Given the description of an element on the screen output the (x, y) to click on. 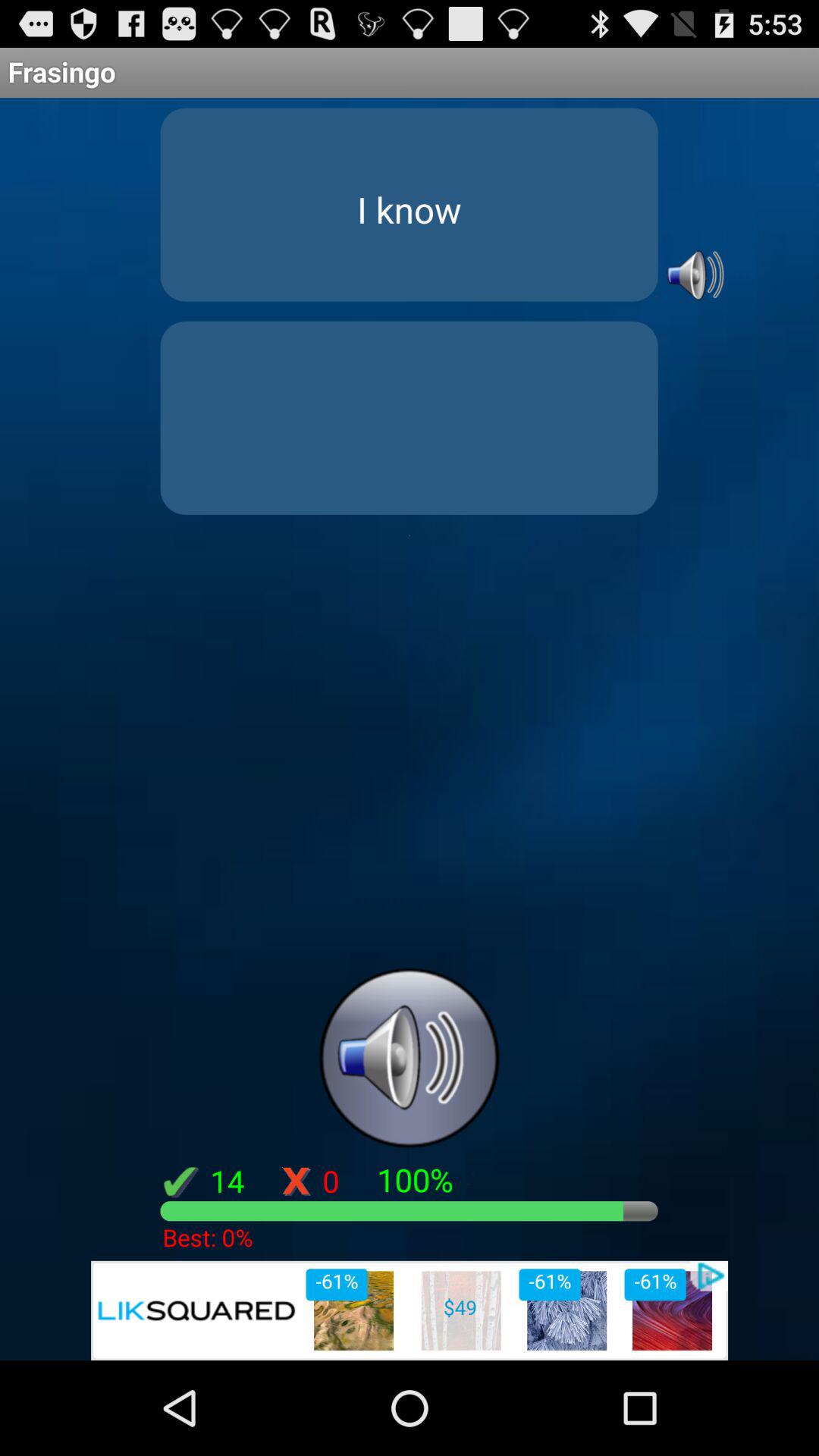
click on the second box (409, 418)
